Given the description of an element on the screen output the (x, y) to click on. 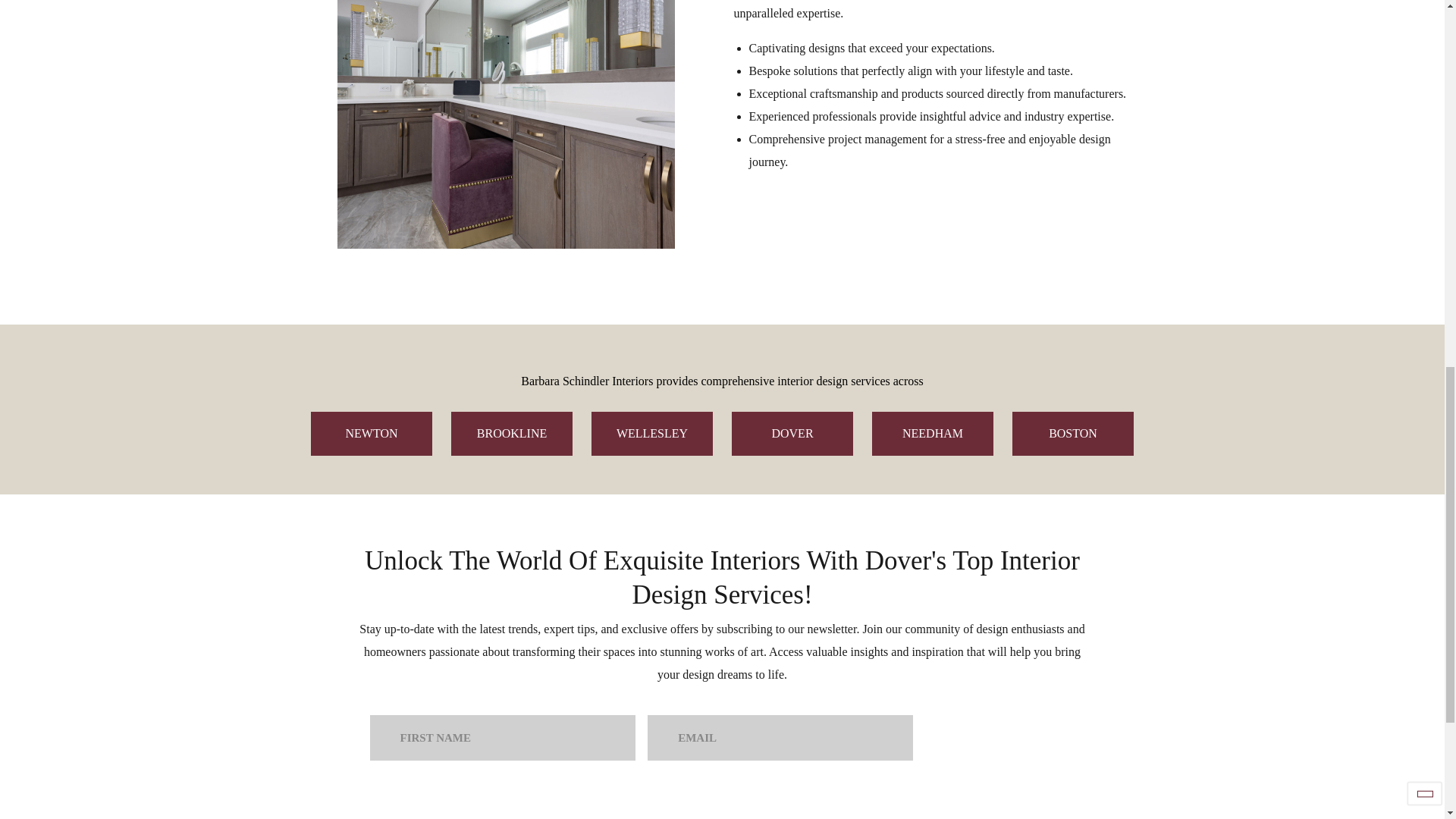
BROOKLINE (511, 433)
WELLESLEY (652, 433)
BOSTON (1072, 433)
Subscribe now! (1000, 736)
NEEDHAM (932, 433)
NEWTON (371, 433)
Subscribe now! (1000, 736)
DOVER (792, 433)
